Given the description of an element on the screen output the (x, y) to click on. 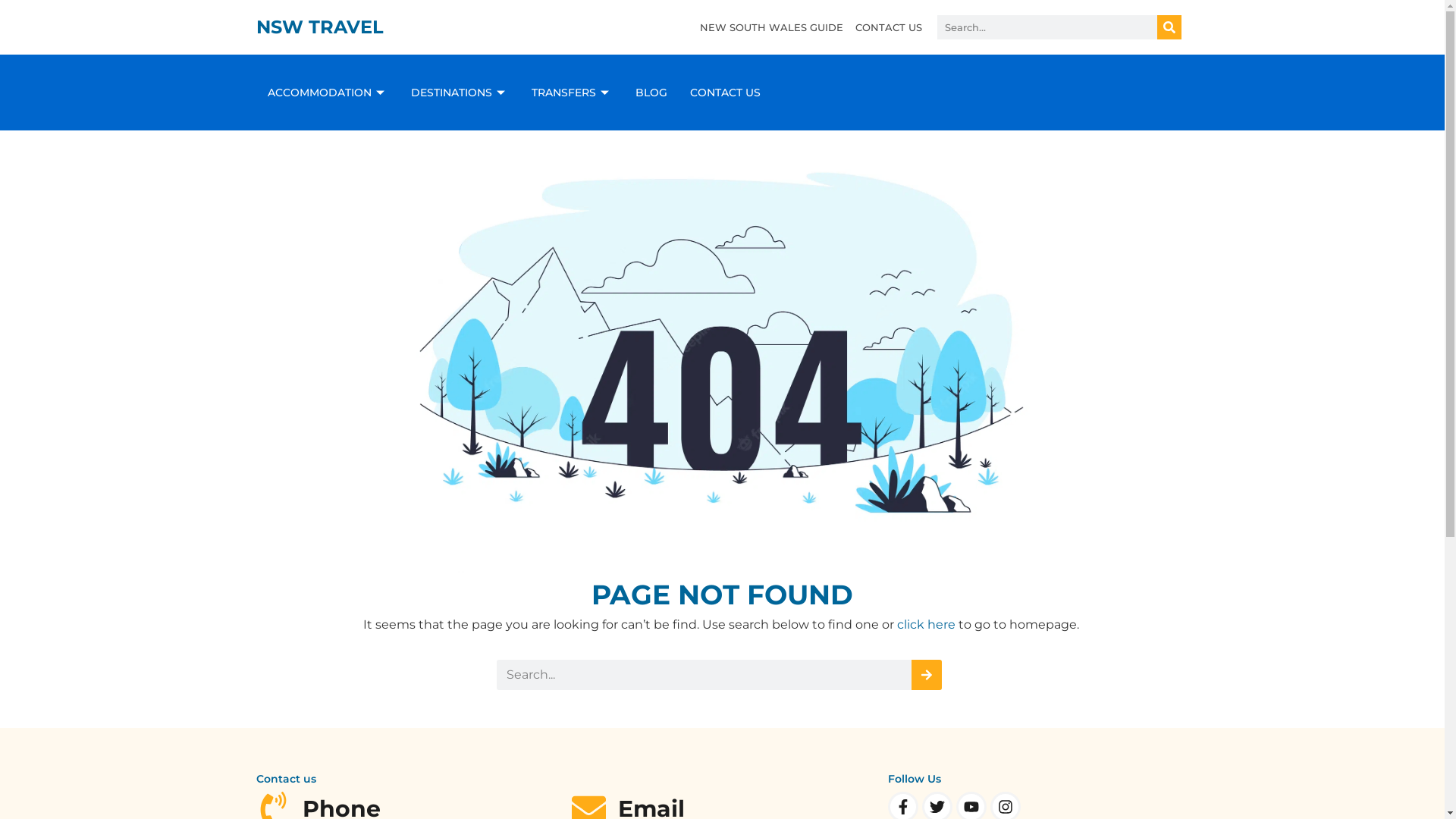
ACCOMMODATION Element type: text (327, 92)
BLOG Element type: text (650, 92)
TRANSFERS Element type: text (572, 92)
NSW TRAVEL Element type: text (319, 26)
click here Element type: text (925, 624)
CONTACT US Element type: text (888, 27)
DESTINATIONS Element type: text (458, 92)
CONTACT US Element type: text (724, 92)
